Given the description of an element on the screen output the (x, y) to click on. 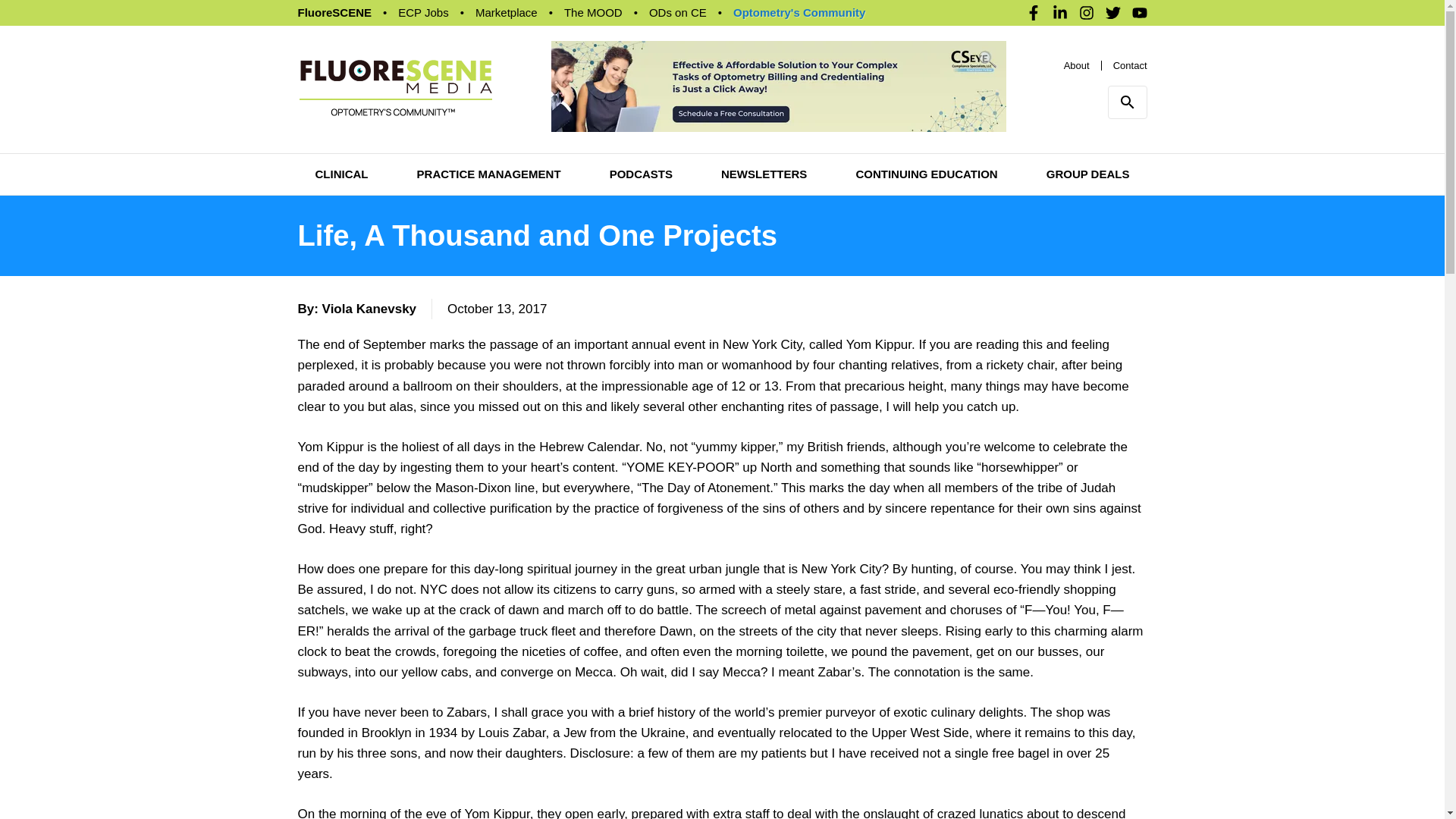
The MOOD (593, 11)
PRACTICE MANAGEMENT (488, 135)
Contact (1130, 45)
Marketplace (506, 11)
NEWSLETTERS (763, 135)
GROUP DEALS (1088, 135)
Optometry's Community (714, 11)
CONTINUING EDUCATION (926, 135)
About (1076, 45)
ECP Jobs (422, 11)
CLINICAL (341, 135)
PODCASTS (641, 135)
